Given the description of an element on the screen output the (x, y) to click on. 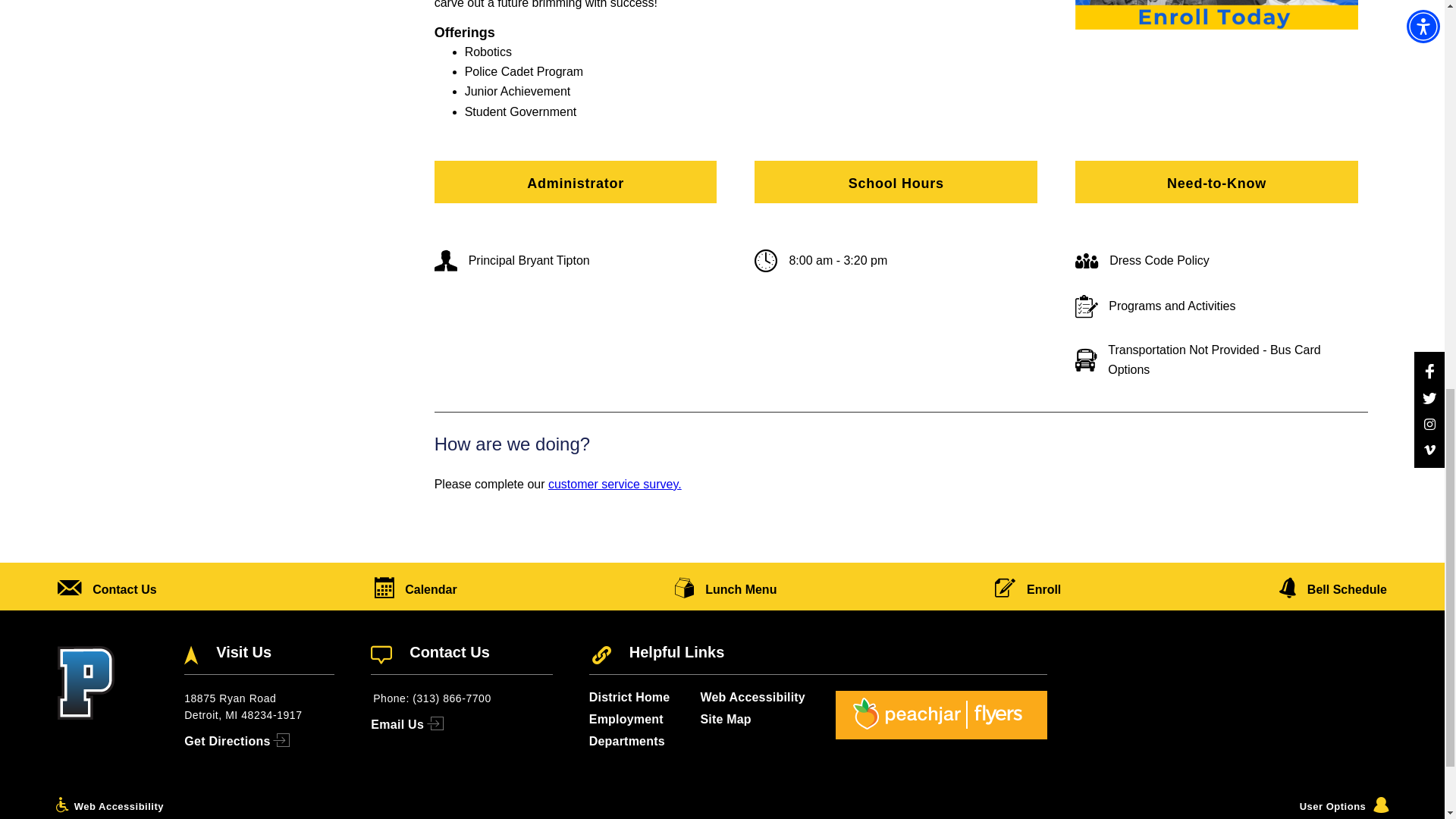
Detroit Public Schools Community District (491, 818)
